Given the description of an element on the screen output the (x, y) to click on. 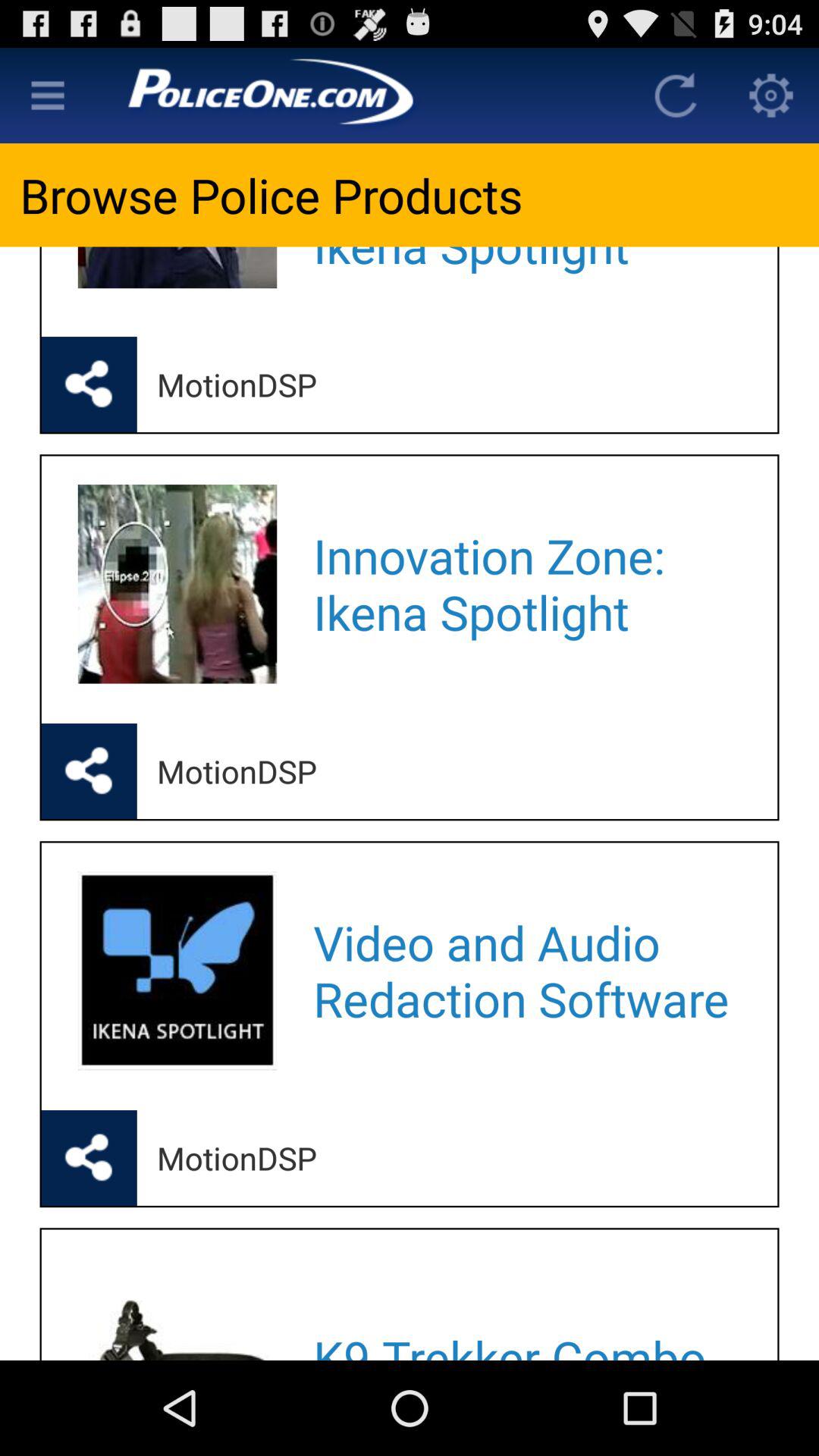
refresh the page (675, 95)
